Given the description of an element on the screen output the (x, y) to click on. 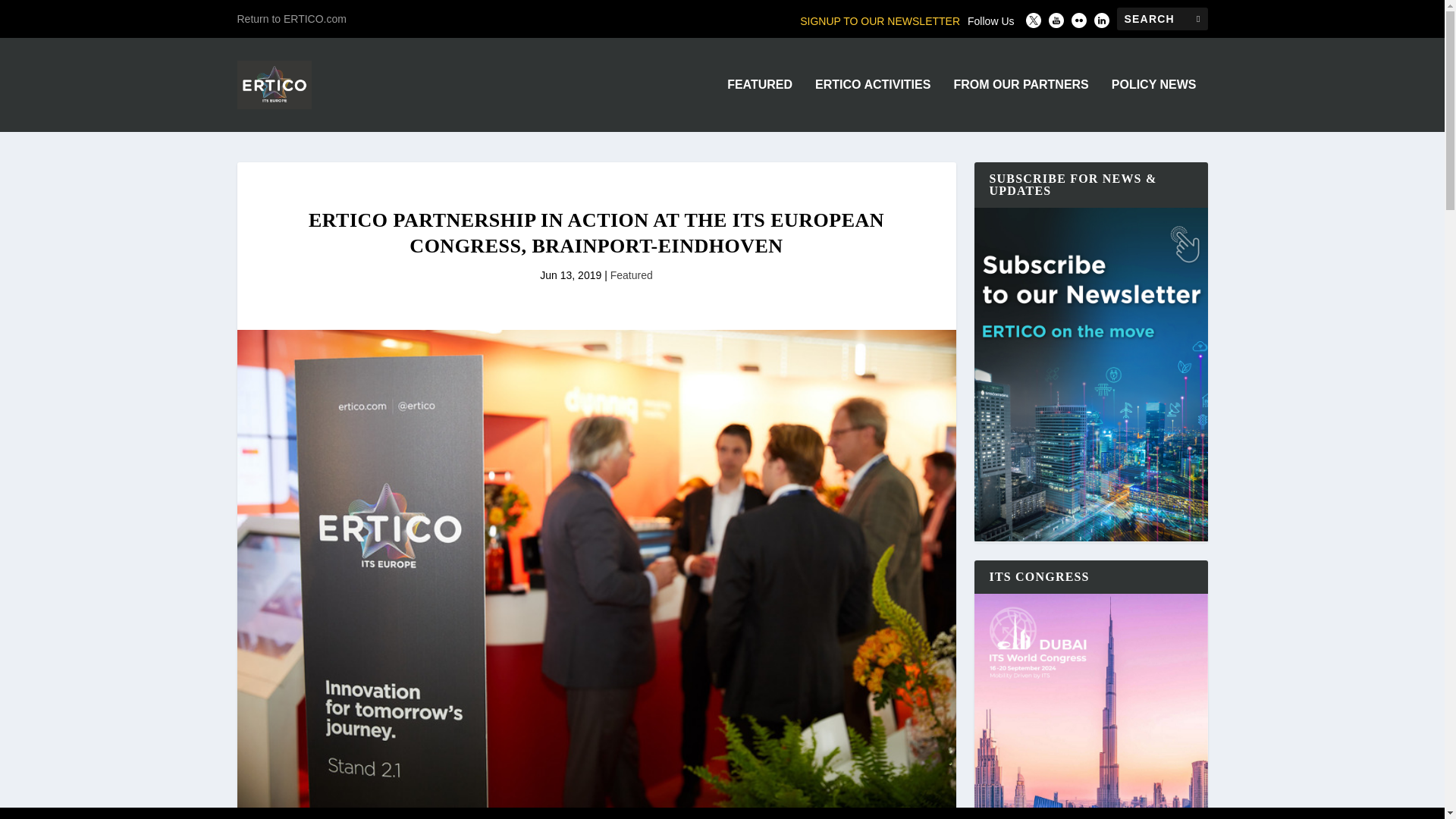
SIGNUP TO OUR NEWSLETTER (879, 21)
ERTICO ACTIVITIES (872, 104)
Return to ERTICO.com (290, 18)
FROM OUR PARTNERS (1020, 104)
FEATURED (759, 104)
Search for: (1161, 18)
POLICY NEWS (1154, 104)
Featured (631, 275)
